Given the description of an element on the screen output the (x, y) to click on. 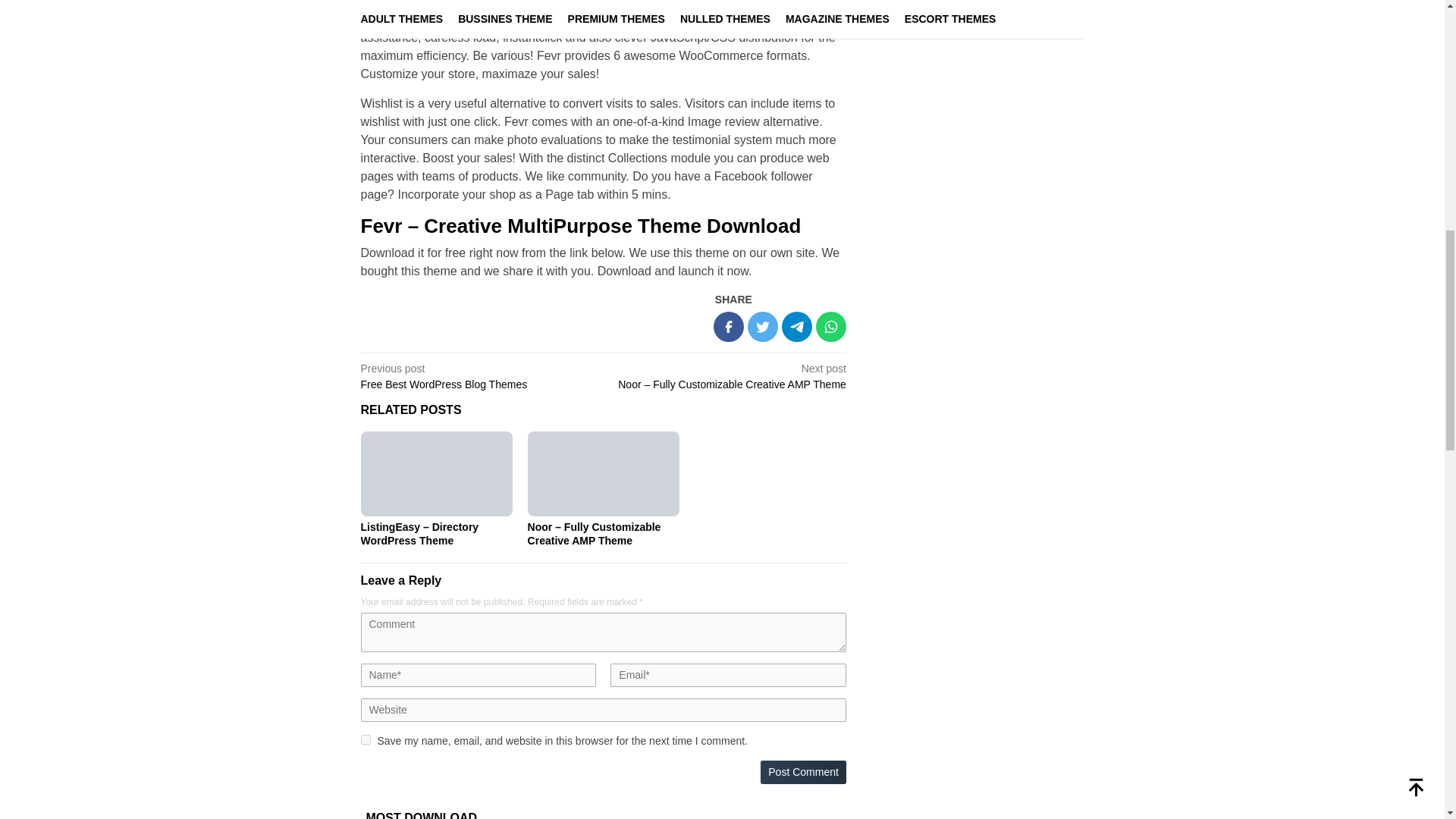
Post Comment (802, 771)
Share this (728, 327)
yes (477, 375)
Post Comment (366, 739)
